Given the description of an element on the screen output the (x, y) to click on. 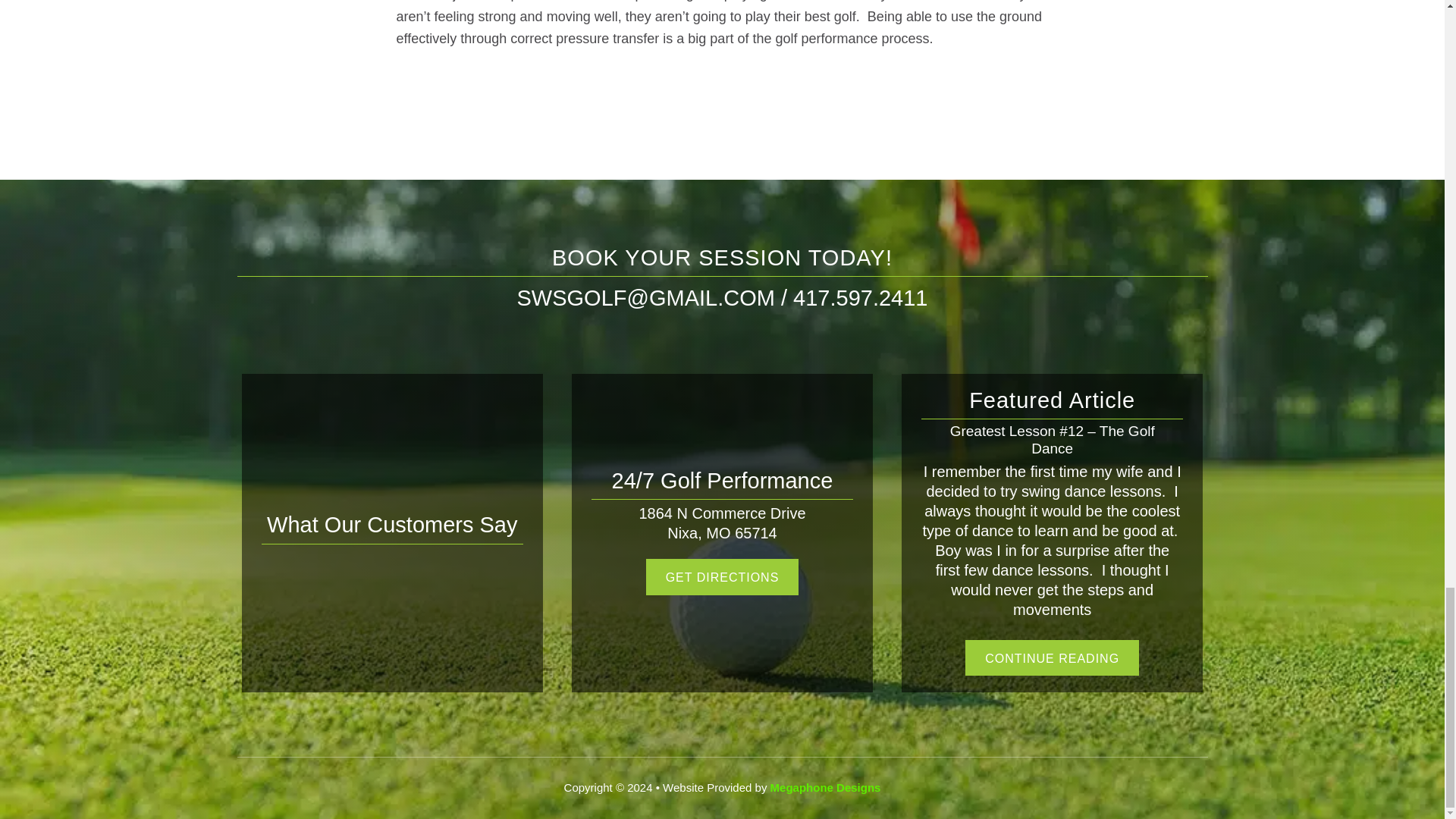
Megaphone Designs (825, 787)
GET DIRECTIONS (721, 576)
CONTINUE READING (1052, 658)
417.597.2411 (860, 297)
